Given the description of an element on the screen output the (x, y) to click on. 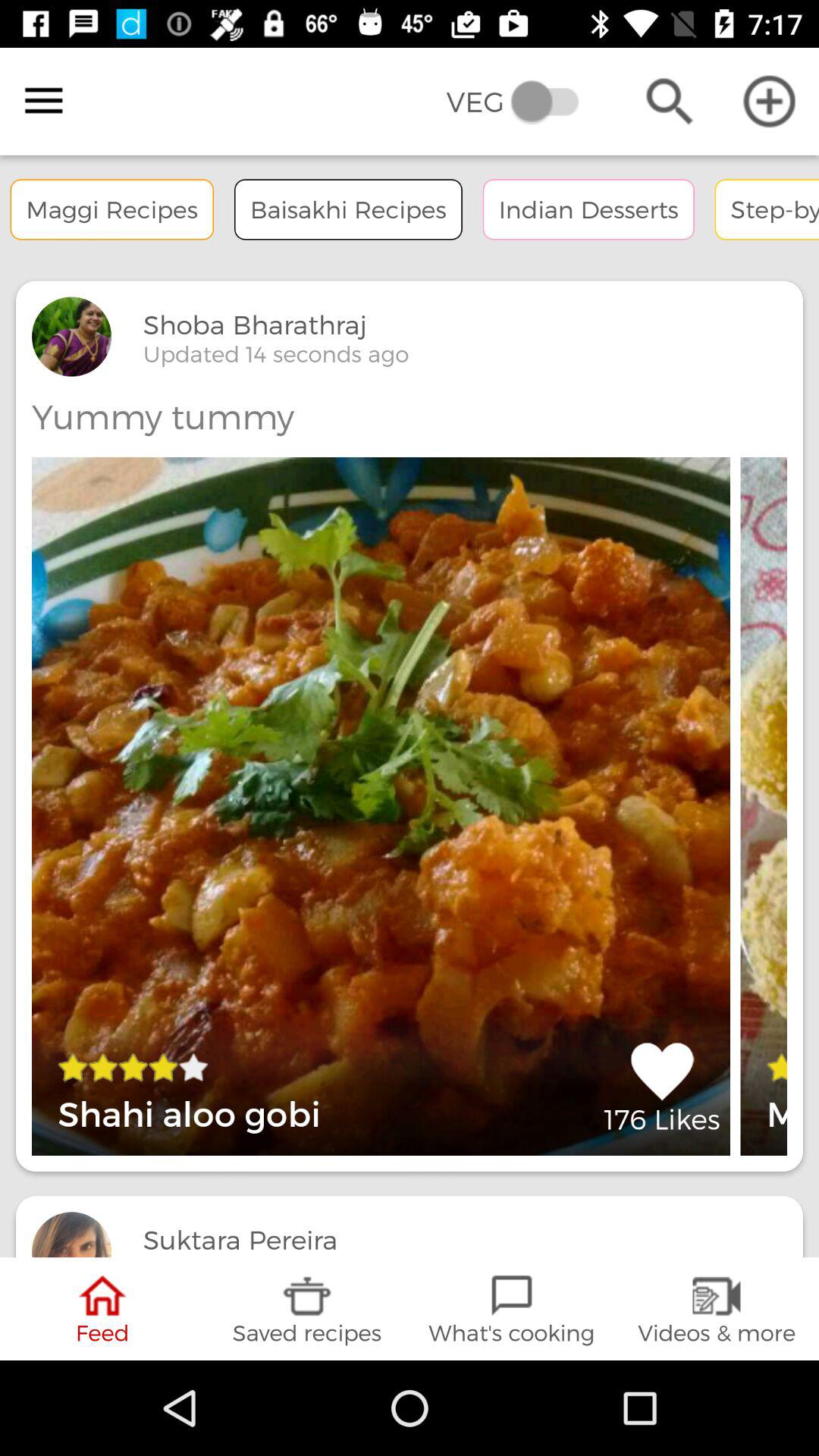
turn on the icon next to what's cooking (716, 1308)
